Given the description of an element on the screen output the (x, y) to click on. 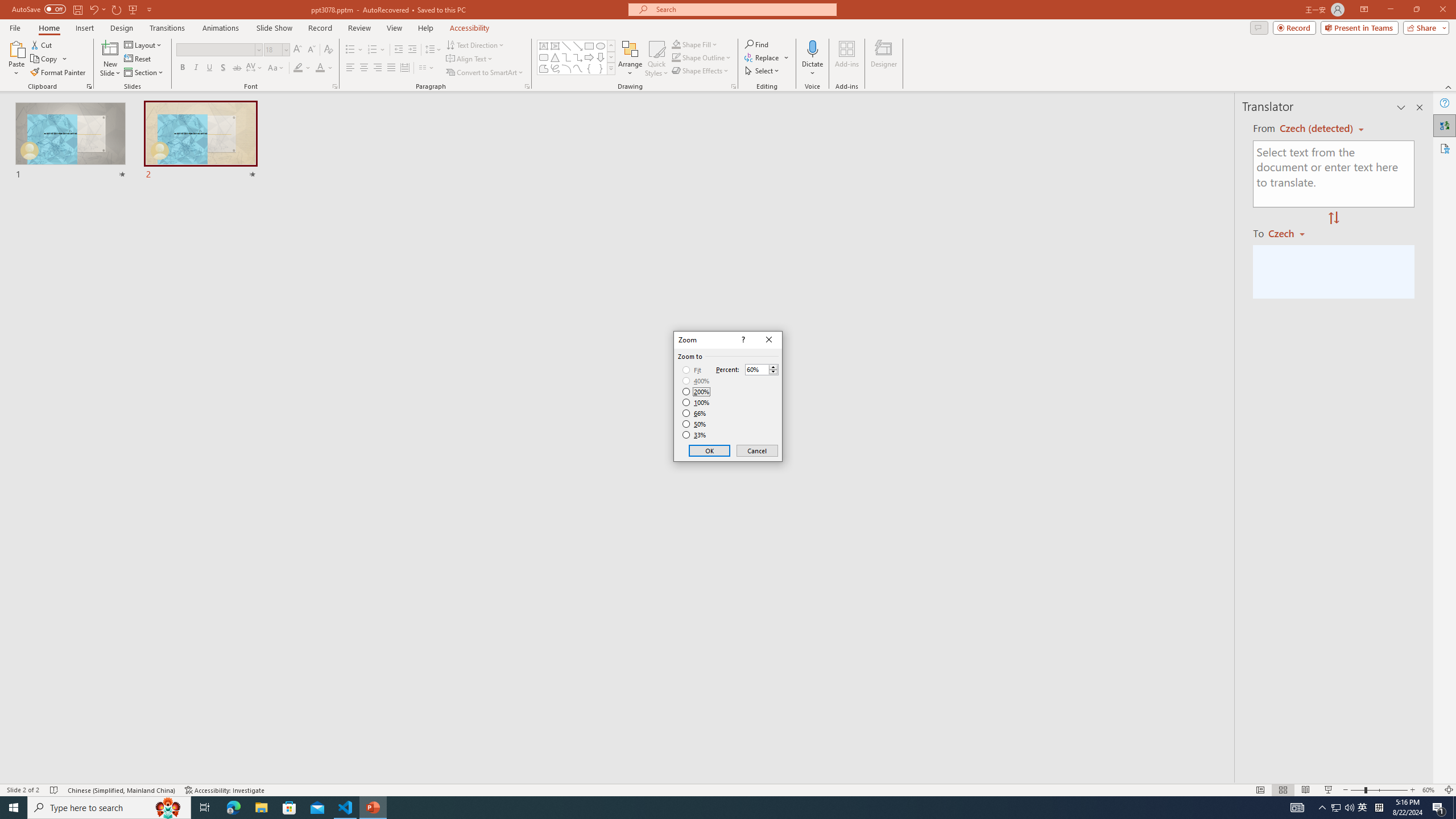
Cancel (756, 450)
Context help (742, 339)
